Given the description of an element on the screen output the (x, y) to click on. 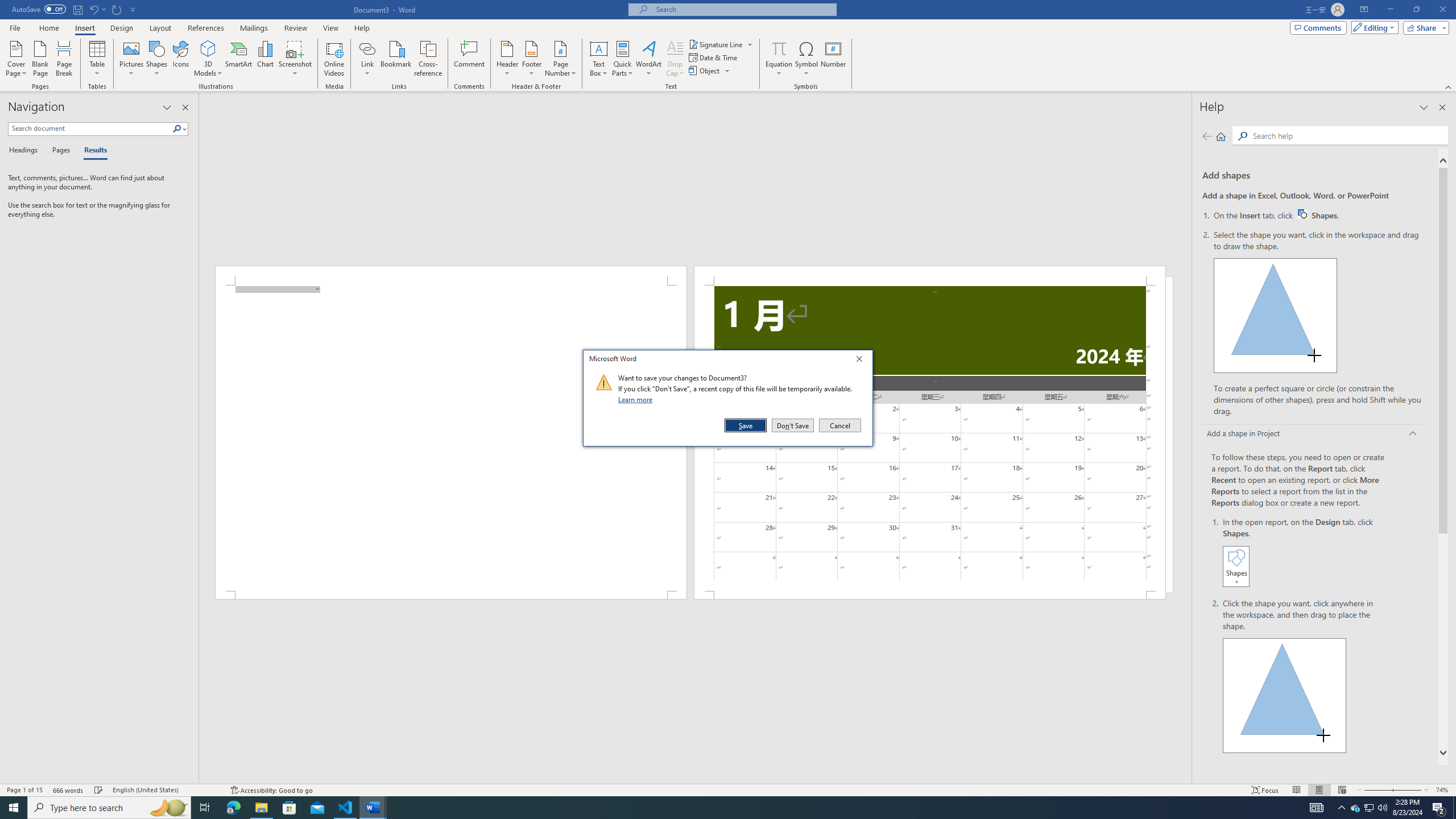
Drop Cap (1355, 807)
Bookmark... (674, 58)
Drawing a shape (396, 58)
Word Count 666 words (1284, 695)
Icons (68, 790)
Chart... (180, 58)
